Given the description of an element on the screen output the (x, y) to click on. 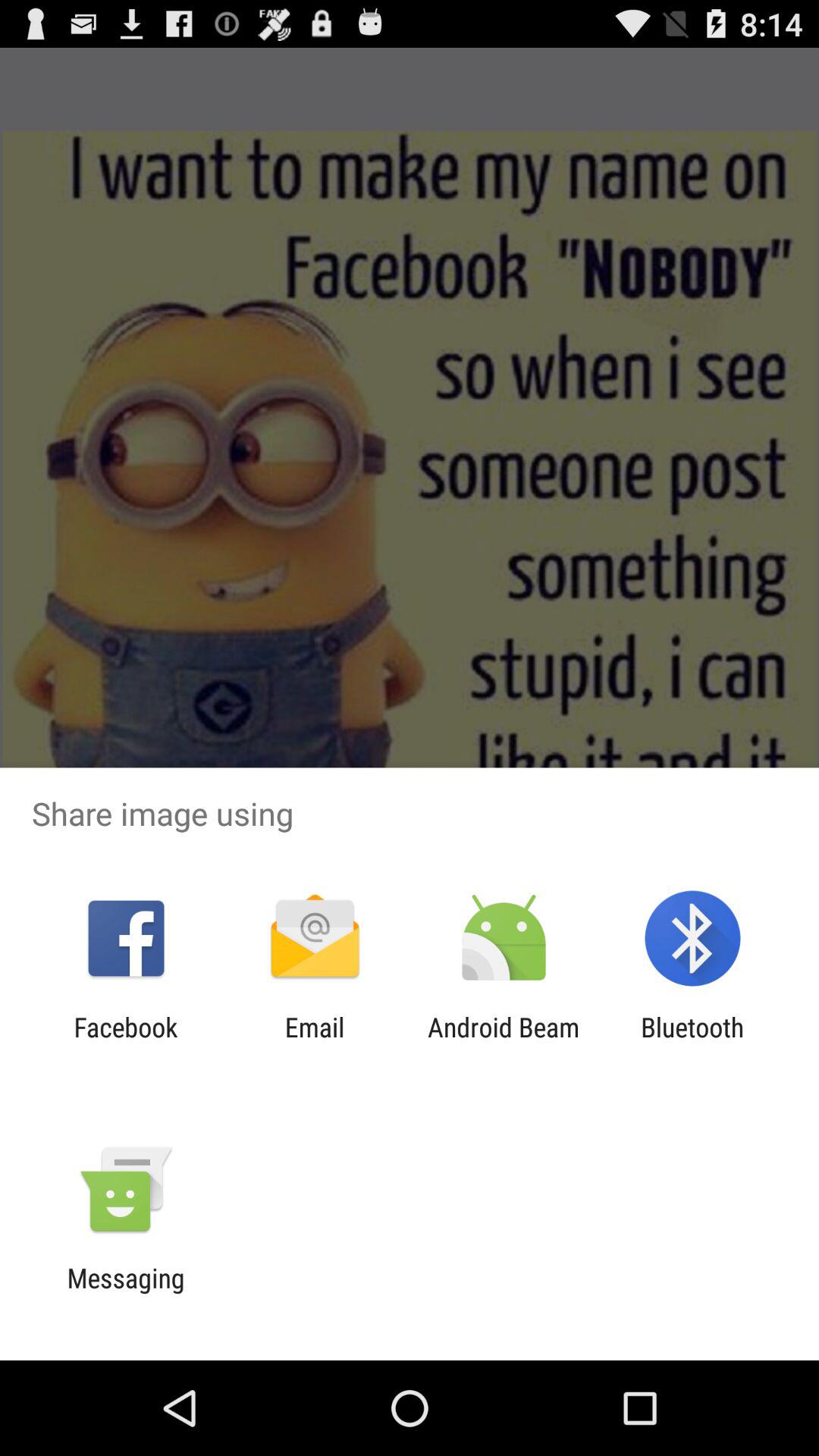
click the icon next to the facebook app (314, 1042)
